Given the description of an element on the screen output the (x, y) to click on. 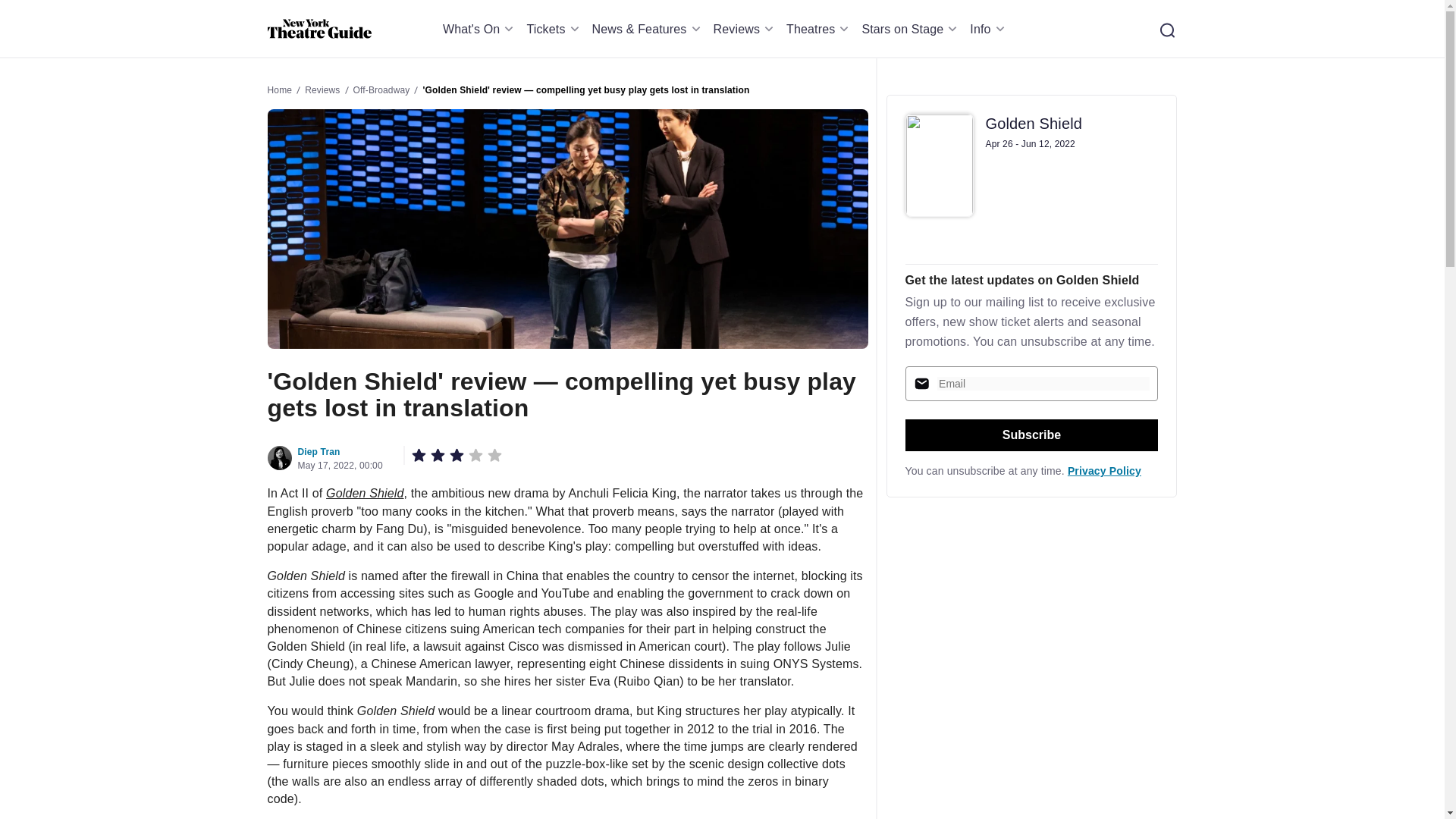
Tickets (554, 28)
What's On (480, 28)
Theatres (819, 28)
Home (318, 28)
Reviews (745, 28)
